Given the description of an element on the screen output the (x, y) to click on. 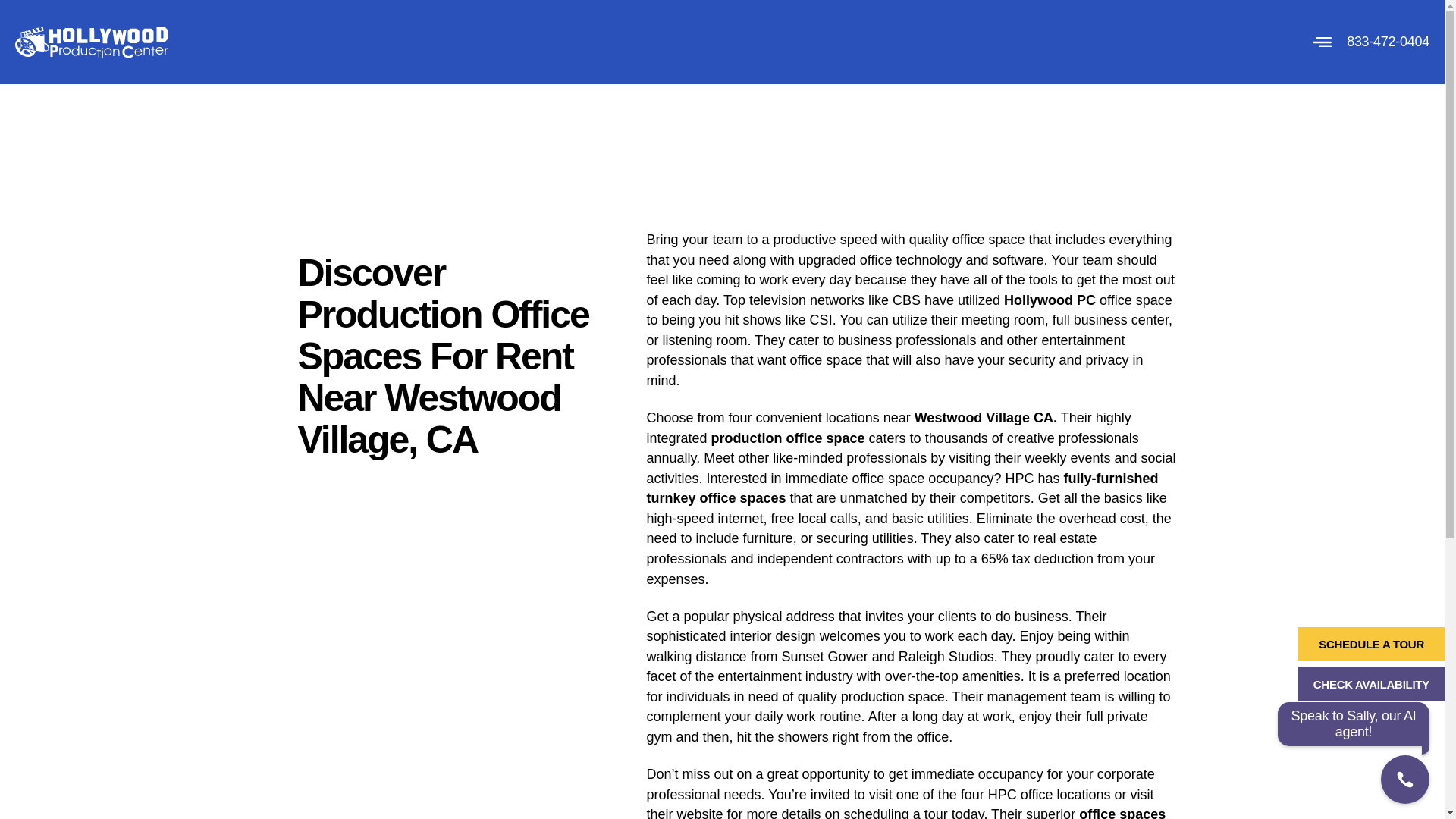
833-472-0404 (1387, 41)
Hollywood PC (1050, 299)
production office space (787, 437)
Westwood Village CA. (985, 417)
fully-furnished turnkey office spaces (901, 488)
office spaces (1122, 812)
